Given the description of an element on the screen output the (x, y) to click on. 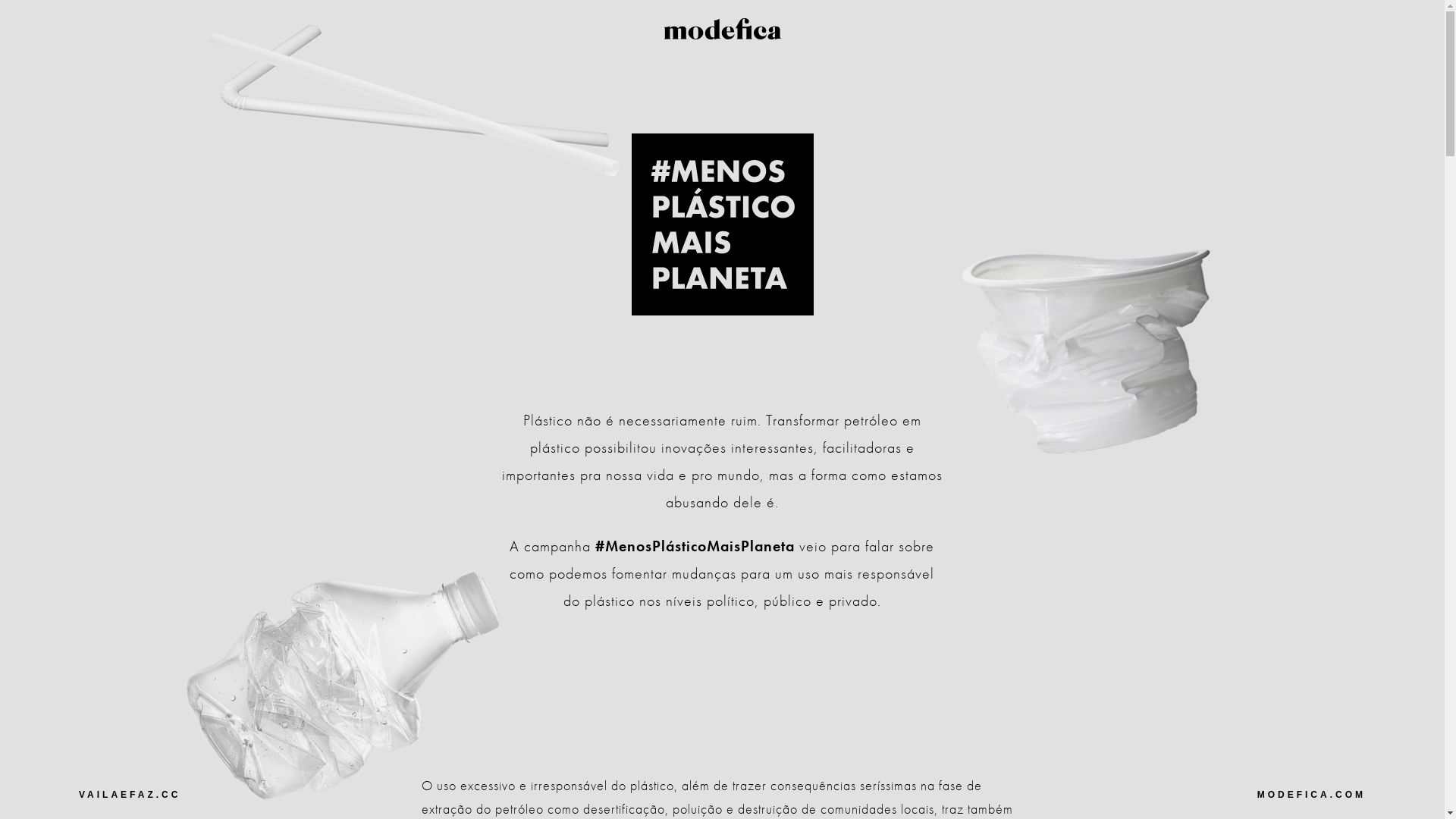
MODEFICA.COM Element type: text (1300, 795)
VAILAEFAZ.CC Element type: text (143, 795)
